Given the description of an element on the screen output the (x, y) to click on. 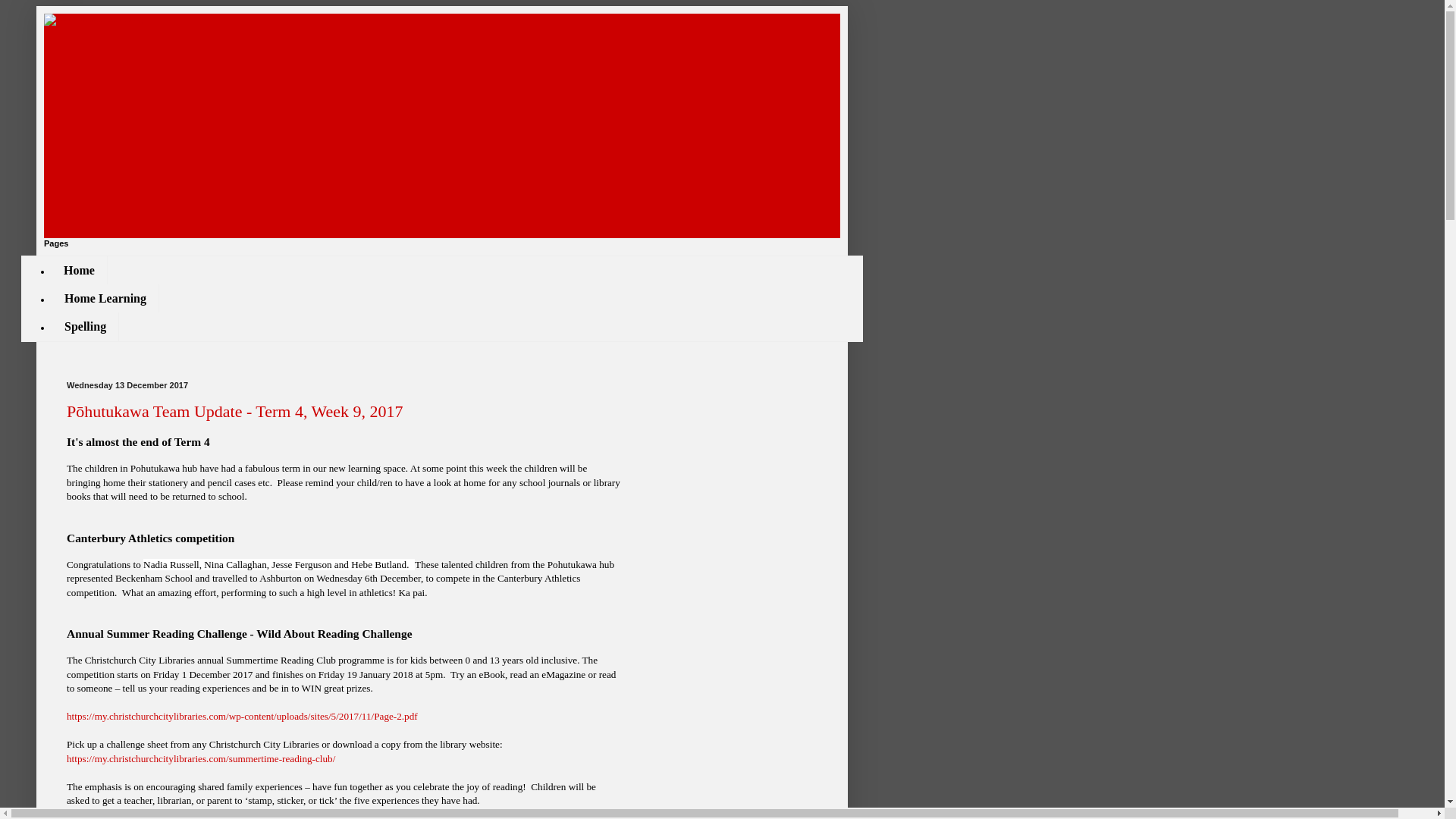
Spelling (84, 326)
Home Learning (104, 298)
Home (78, 270)
